Given the description of an element on the screen output the (x, y) to click on. 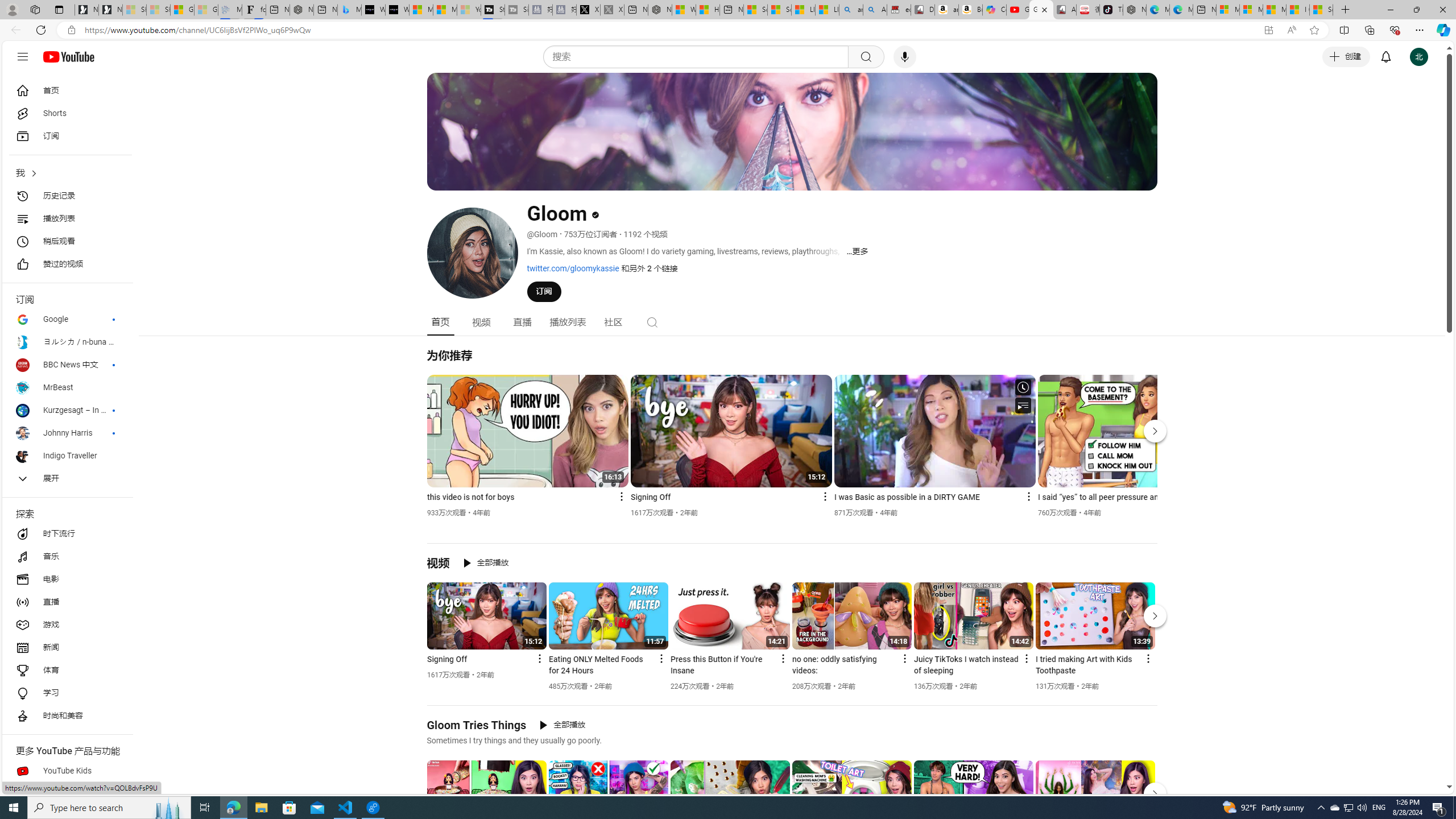
All Cubot phones (1064, 9)
MrBeast (66, 387)
Huge shark washes ashore at New York City beach | Watch (708, 9)
